Given the description of an element on the screen output the (x, y) to click on. 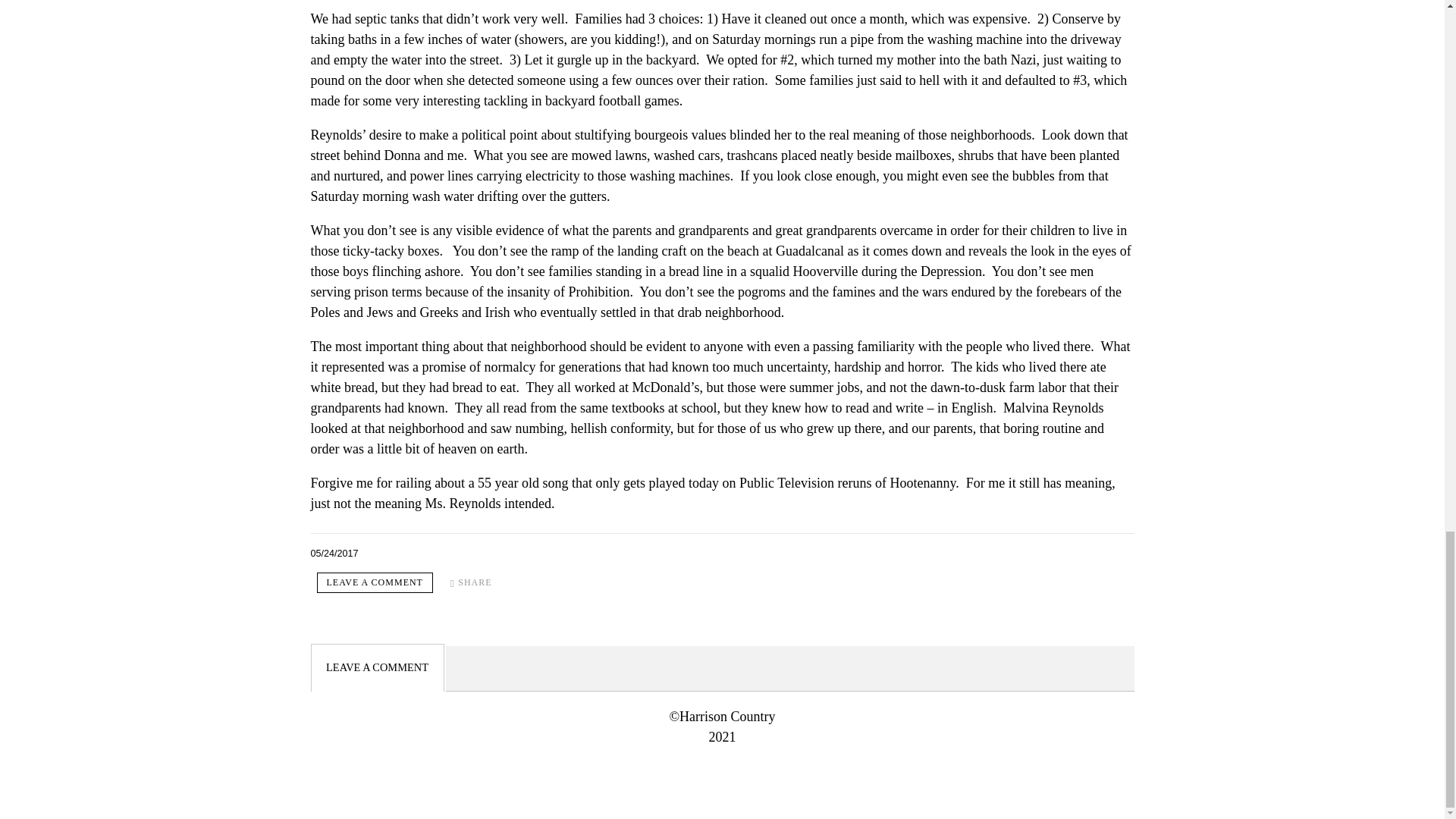
Share THE WORST SONG EVER WRITTEN (470, 582)
LEAVE A COMMENT (374, 582)
Leave a comment (374, 582)
SHARE (470, 582)
May 24, 2017 10:30 (334, 552)
